Given the description of an element on the screen output the (x, y) to click on. 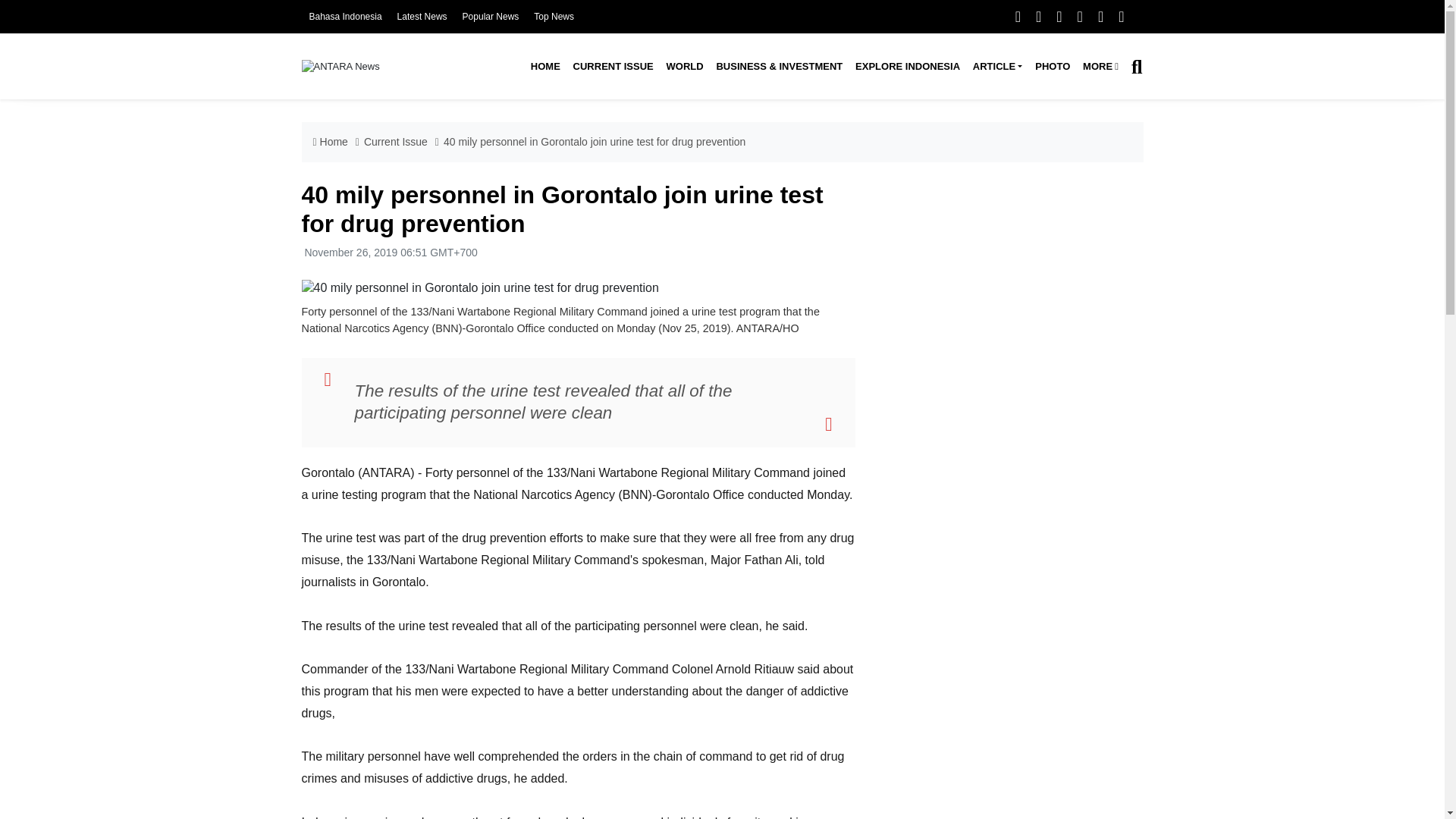
Popular News (491, 16)
Top News (553, 16)
Bahasa Indonesia (344, 16)
CURRENT ISSUE (612, 66)
ARTICLE (996, 66)
Tiktok ANTARA (1100, 15)
HOME (545, 66)
PHOTO (1053, 66)
Photo (1053, 66)
Facebook ANTARA (1017, 15)
Instagram ANTARA (1059, 15)
EXPLORE INDONESIA (907, 66)
WORLD (684, 66)
Explore Indonesia (907, 66)
